Given the description of an element on the screen output the (x, y) to click on. 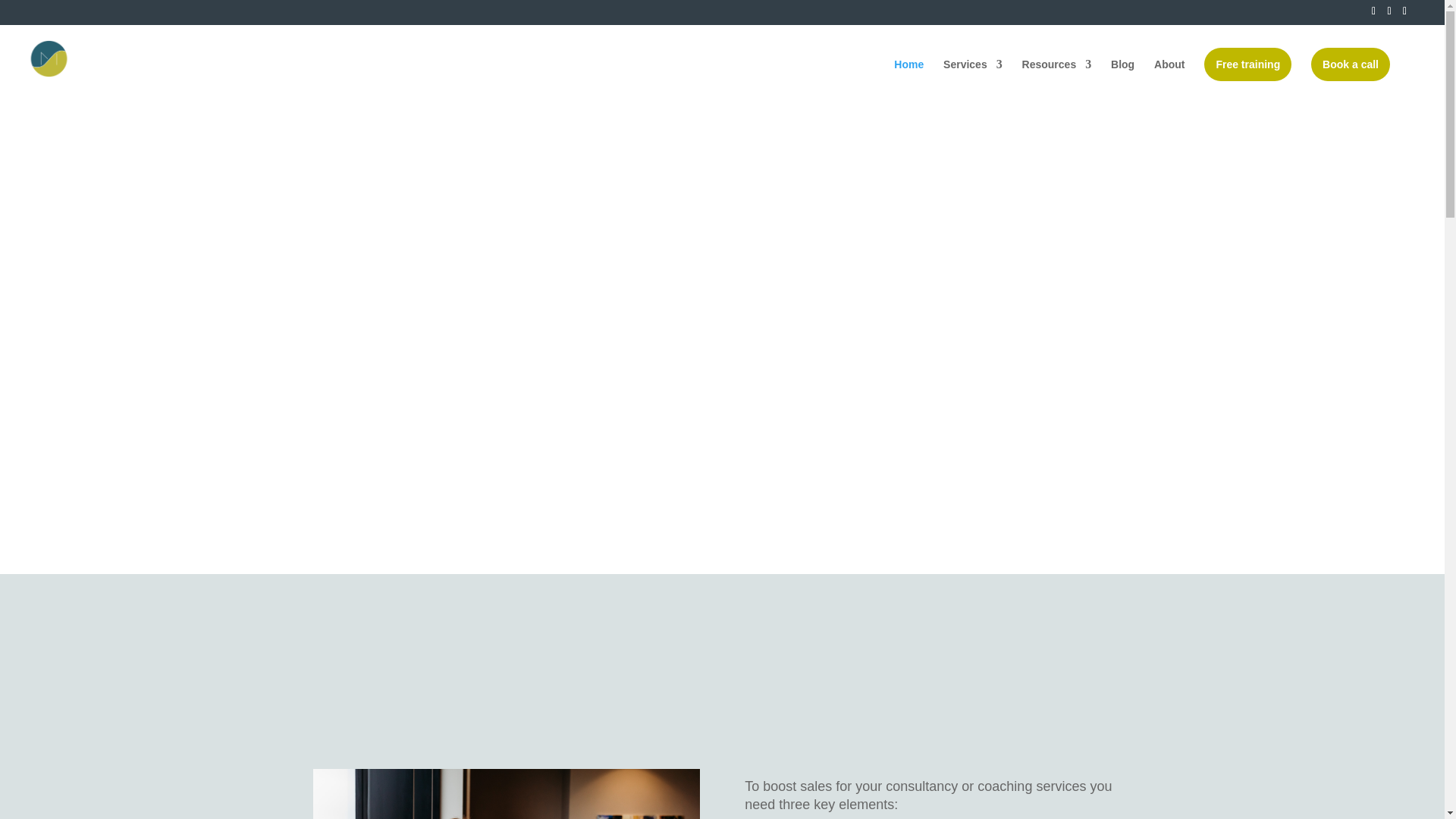
Services (973, 76)
Kirsty Lawrence  (505, 794)
Book a call (1350, 64)
Resources (1057, 76)
Free training (1247, 64)
